Given the description of an element on the screen output the (x, y) to click on. 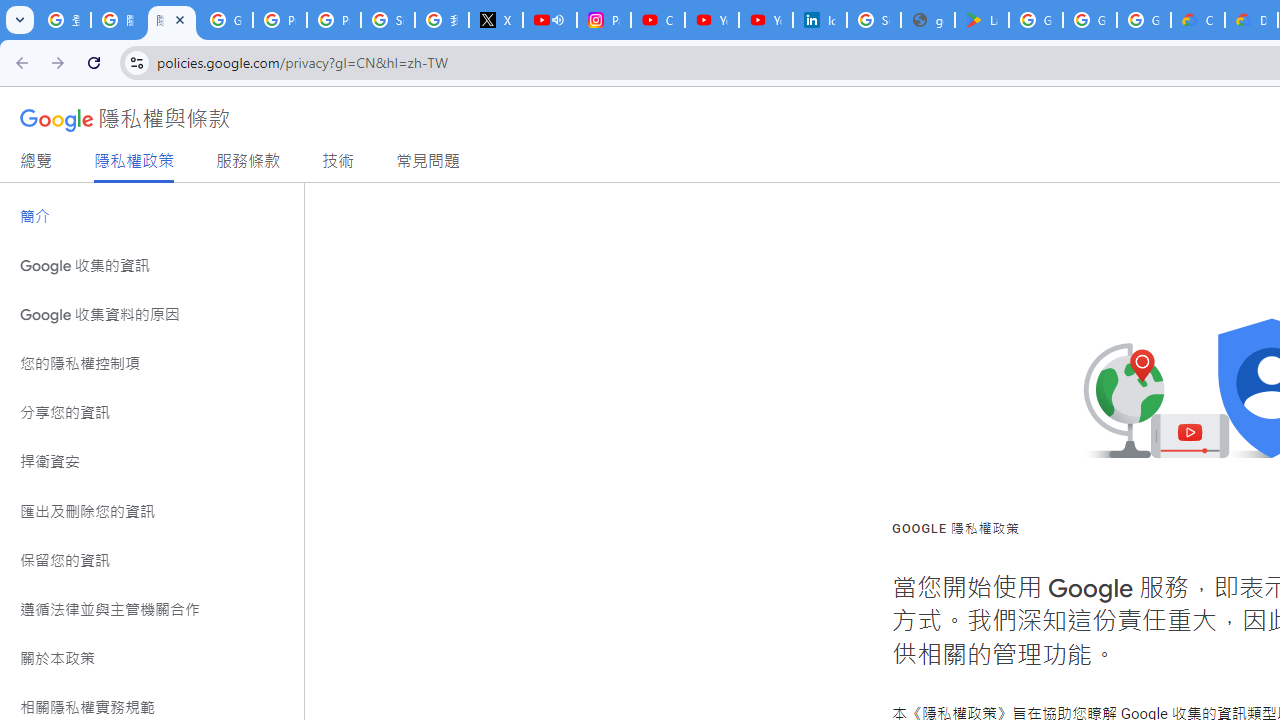
google_privacy_policy_en.pdf (927, 20)
Customer Care | Google Cloud (1197, 20)
